Given the description of an element on the screen output the (x, y) to click on. 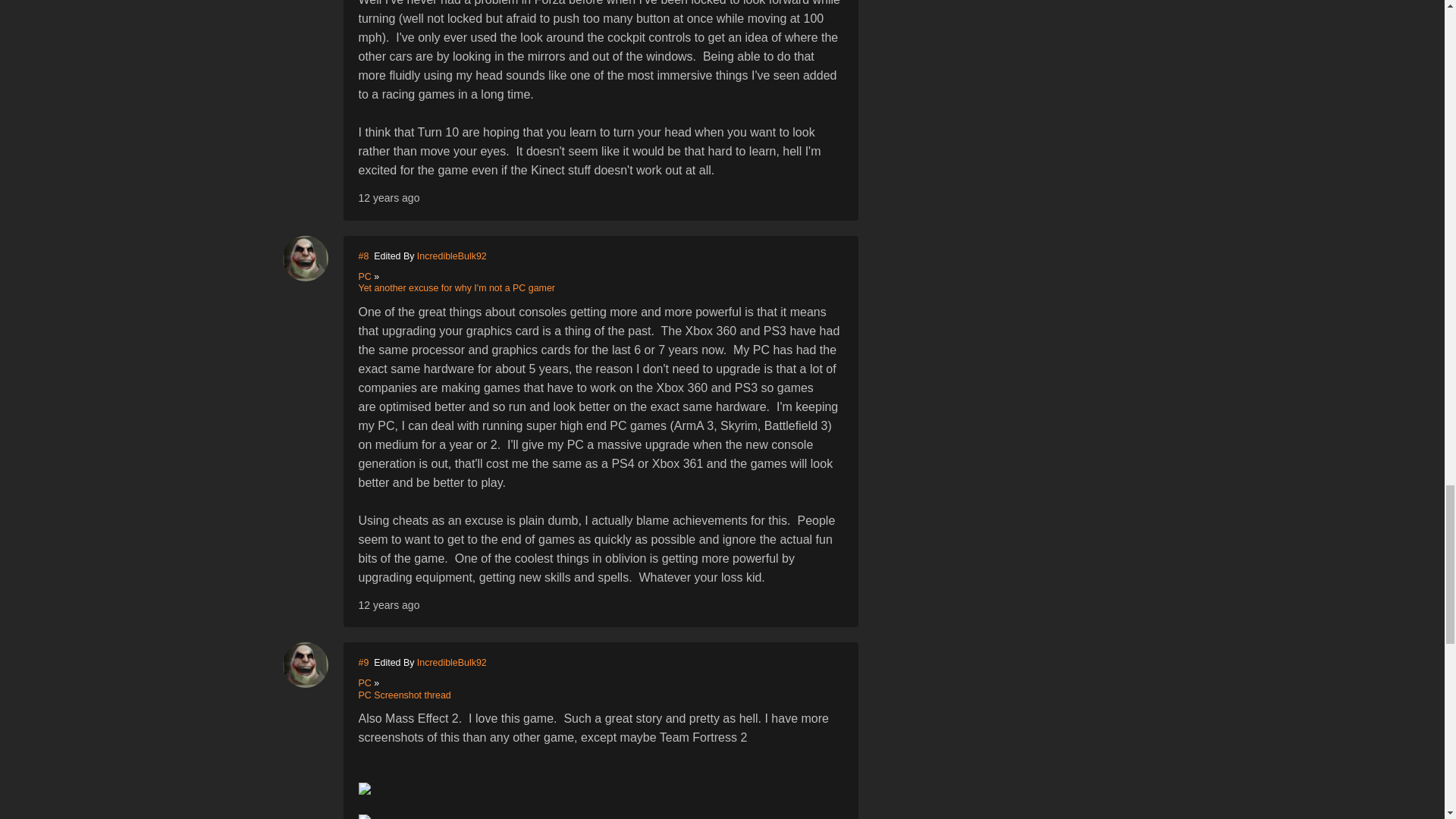
Aug 4, 2011, 3:21pm (388, 197)
Jul 31, 2011, 11:46am (388, 604)
